Given the description of an element on the screen output the (x, y) to click on. 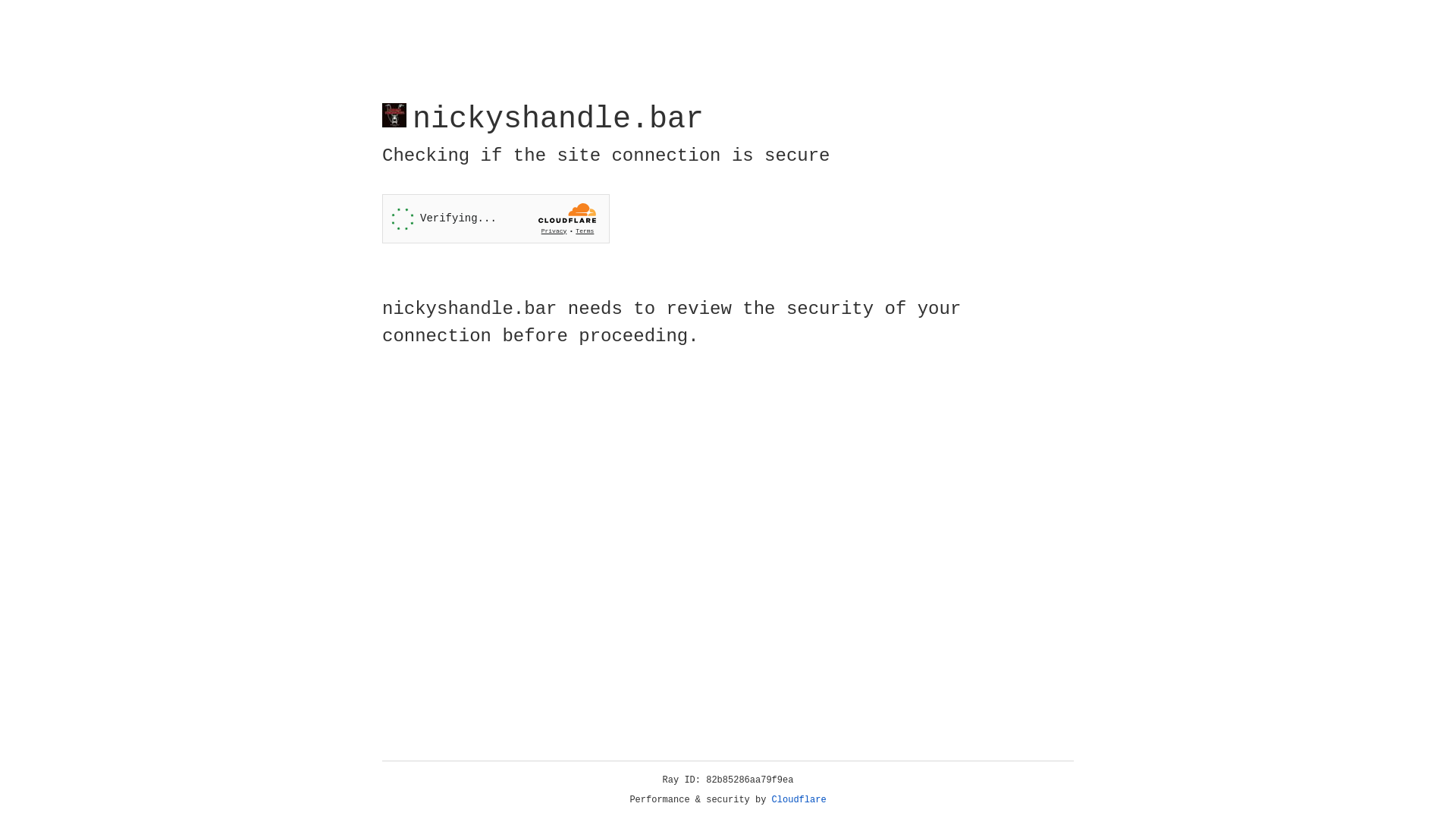
Cloudflare Element type: text (798, 799)
Widget containing a Cloudflare security challenge Element type: hover (495, 218)
